Given the description of an element on the screen output the (x, y) to click on. 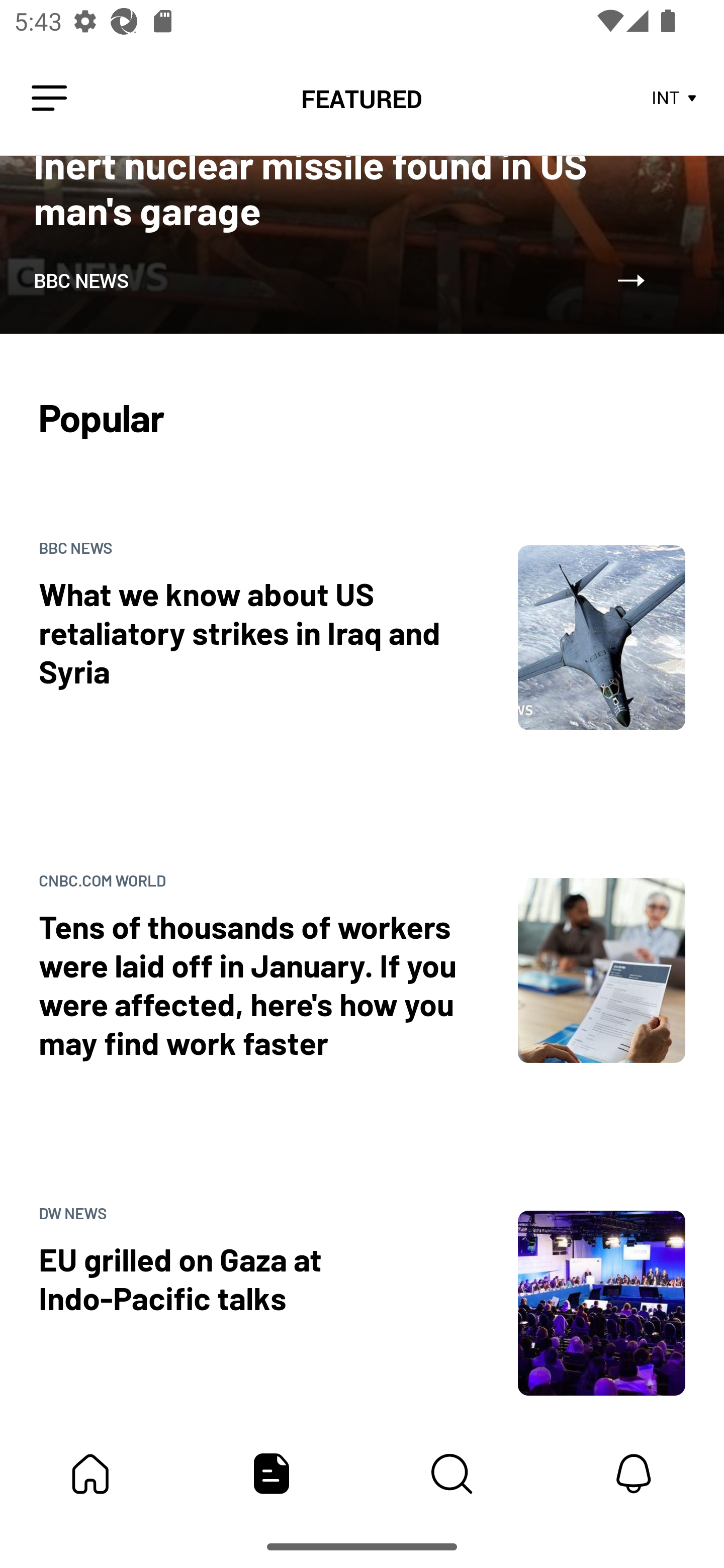
INT Store Area (674, 98)
Leading Icon (49, 98)
My Bundle (90, 1473)
Content Store (452, 1473)
Notifications (633, 1473)
